Given the description of an element on the screen output the (x, y) to click on. 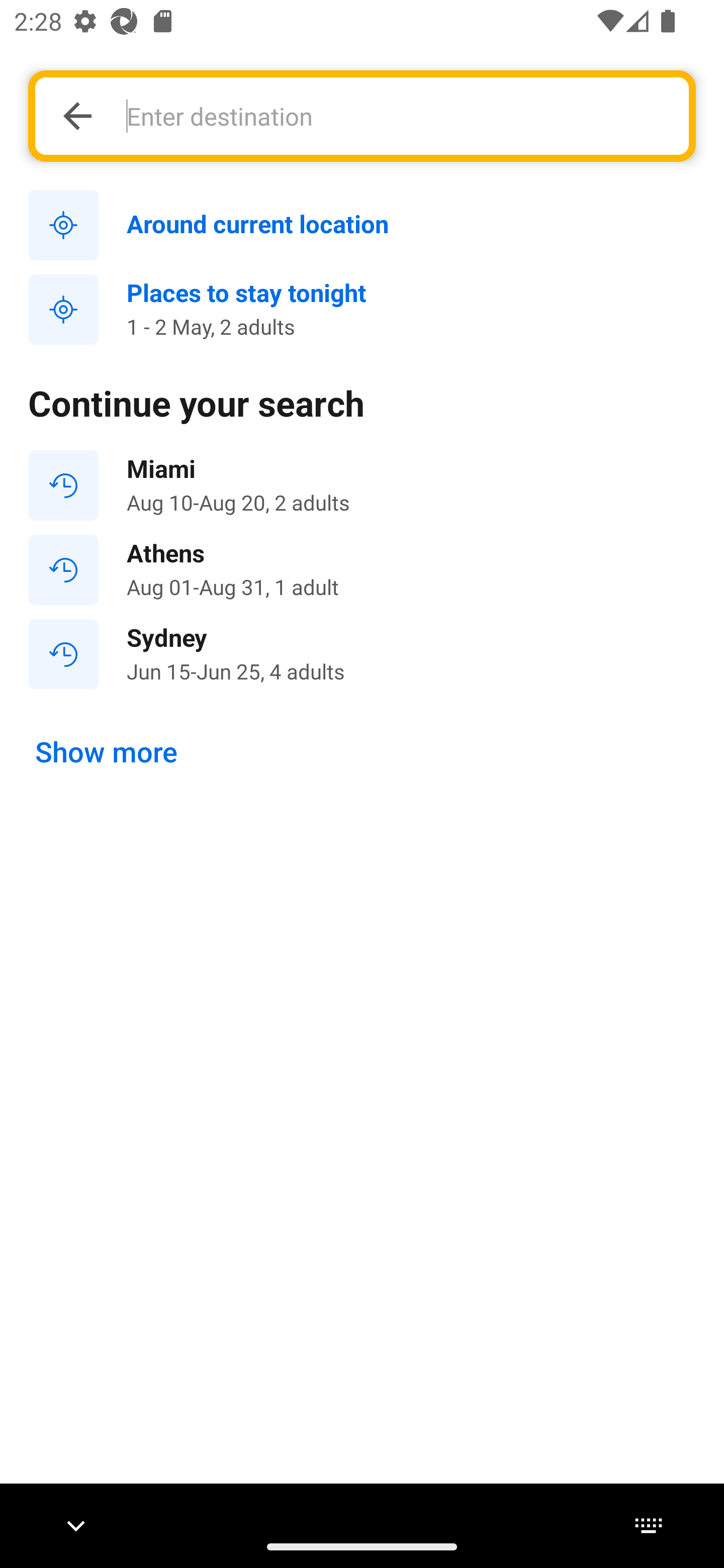
Enter destination (396, 115)
Around current location (362, 225)
Places to stay tonight 1 - 2 May, 2 adults (362, 309)
Miami Aug 10-Aug 20, 2 adults  (362, 485)
Athens Aug 01-Aug 31, 1 adult  (362, 569)
Sydney Jun 15-Jun 25, 4 adults  (362, 653)
Show more (106, 752)
